Given the description of an element on the screen output the (x, y) to click on. 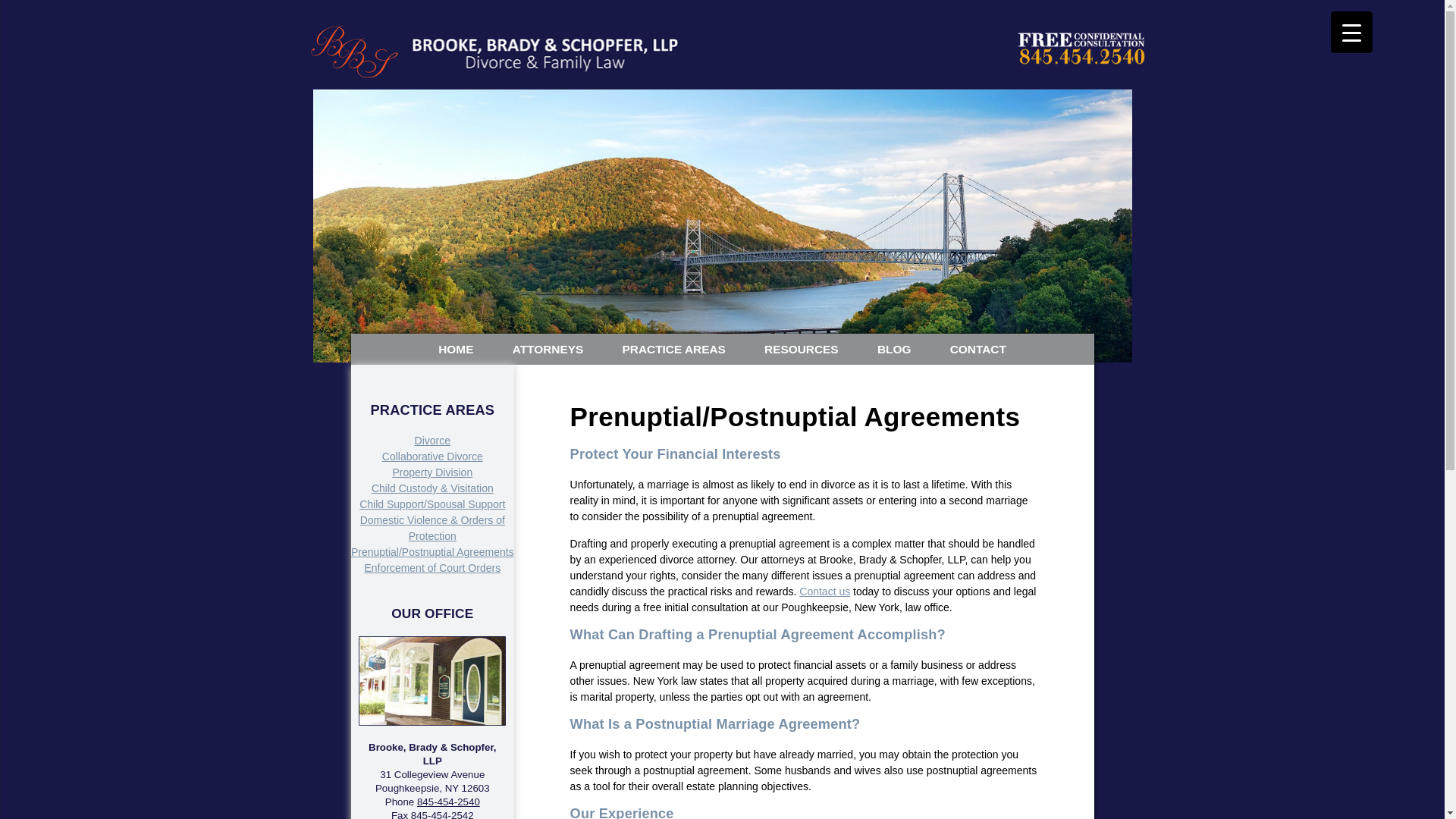
PRACTICE AREAS (674, 349)
HOME (455, 349)
CONTACT (978, 349)
Enforcement of Court Orders (432, 567)
845-454-2540 (448, 801)
Collaborative Divorce (432, 456)
Property Division (431, 472)
BLOG (894, 349)
ATTORNEYS (547, 349)
RESOURCES (801, 349)
Contact us (824, 591)
Divorce (431, 440)
